Given the description of an element on the screen output the (x, y) to click on. 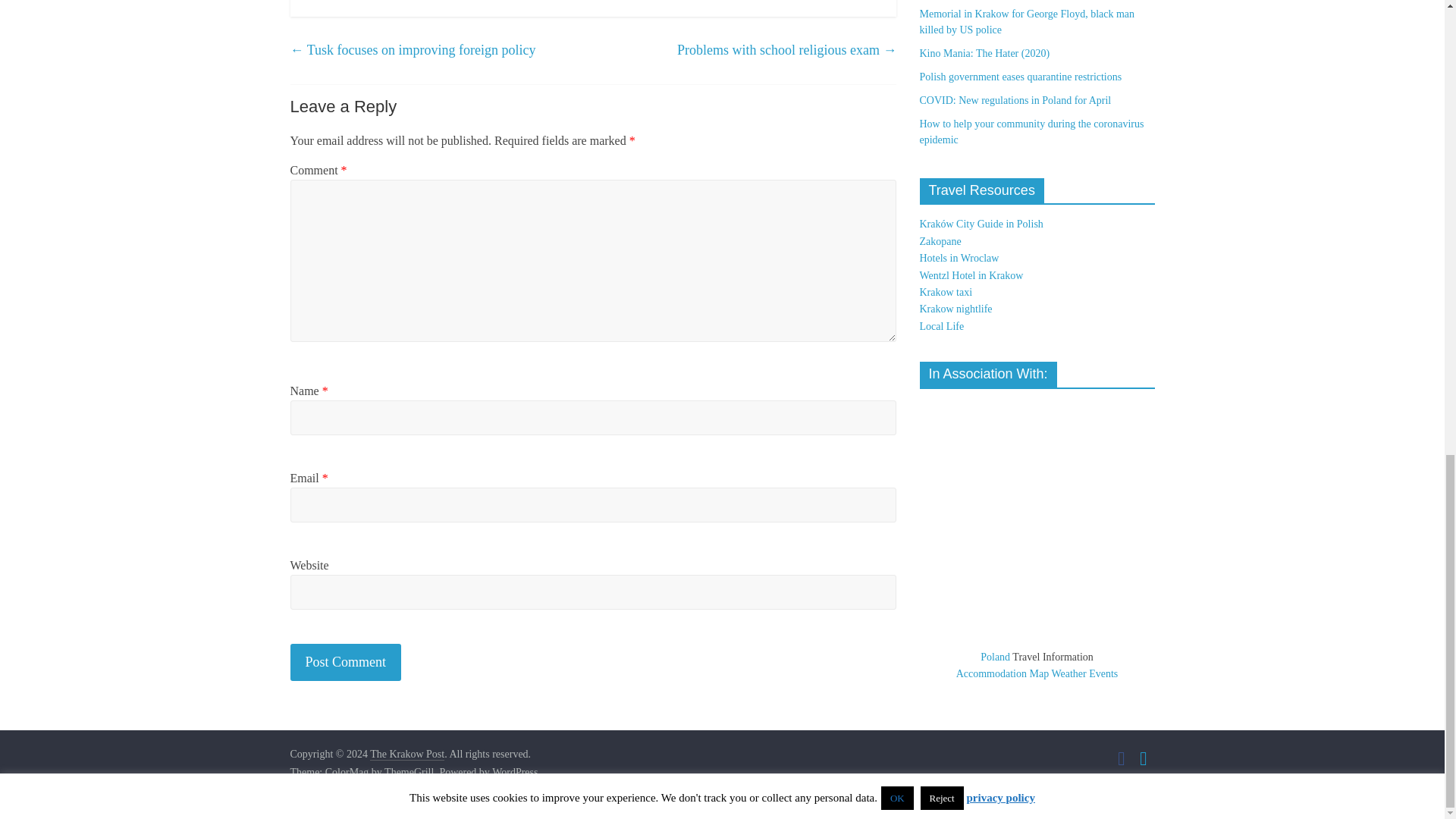
WordPress (514, 772)
Post Comment (345, 661)
ColorMag (346, 772)
The Krakow Post (406, 754)
